Given the description of an element on the screen output the (x, y) to click on. 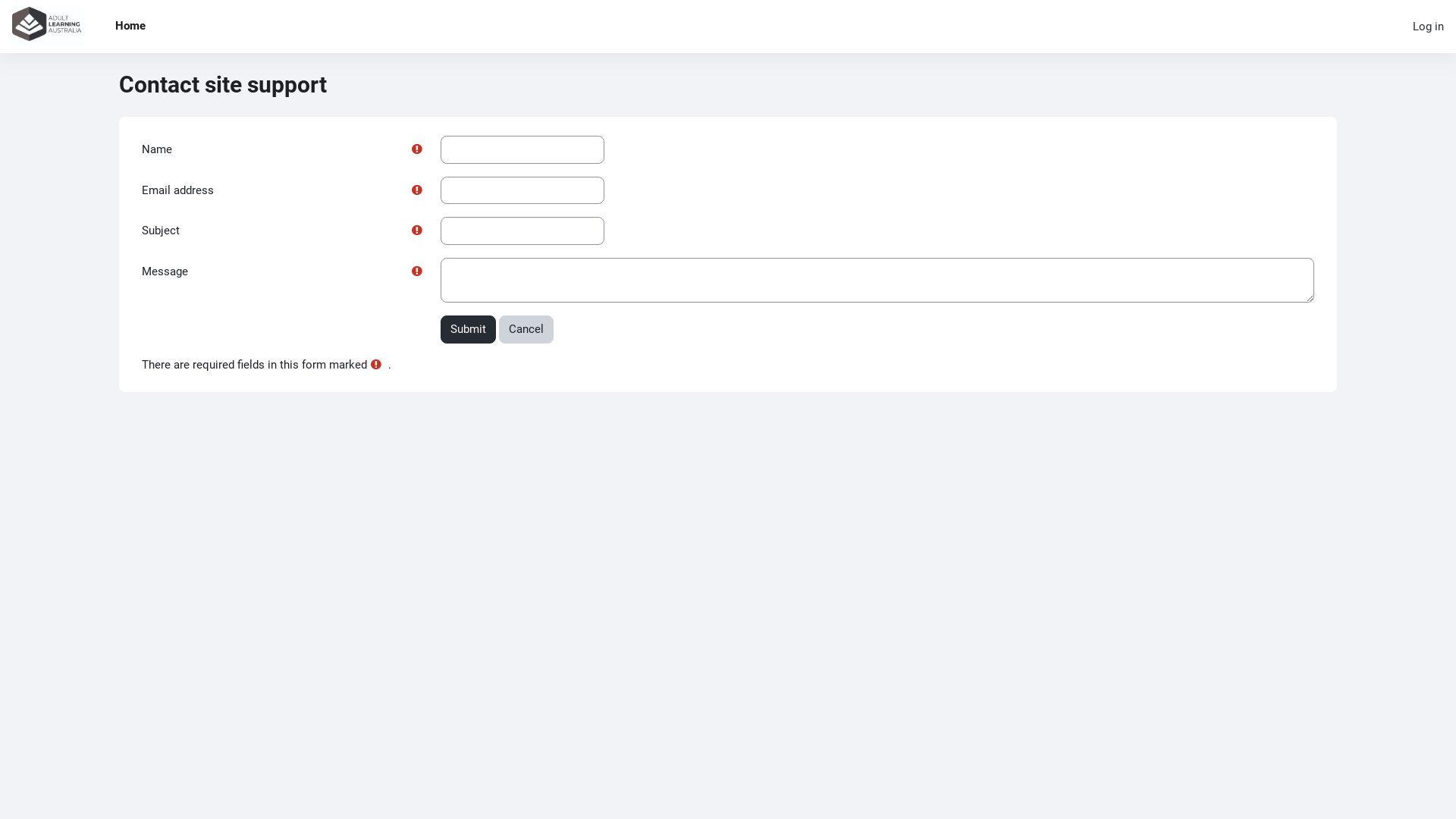
Cancel Element type: text (525, 329)
Required Element type: hover (417, 269)
Home Element type: text (130, 26)
Required field Element type: hover (376, 363)
Required Element type: hover (420, 270)
Log in Element type: text (1427, 26)
Required Element type: hover (420, 149)
Required Element type: hover (420, 190)
Required Element type: hover (420, 230)
Submit Element type: text (467, 329)
Required Element type: hover (417, 229)
Required Element type: hover (417, 148)
Required Element type: hover (417, 189)
